Given the description of an element on the screen output the (x, y) to click on. 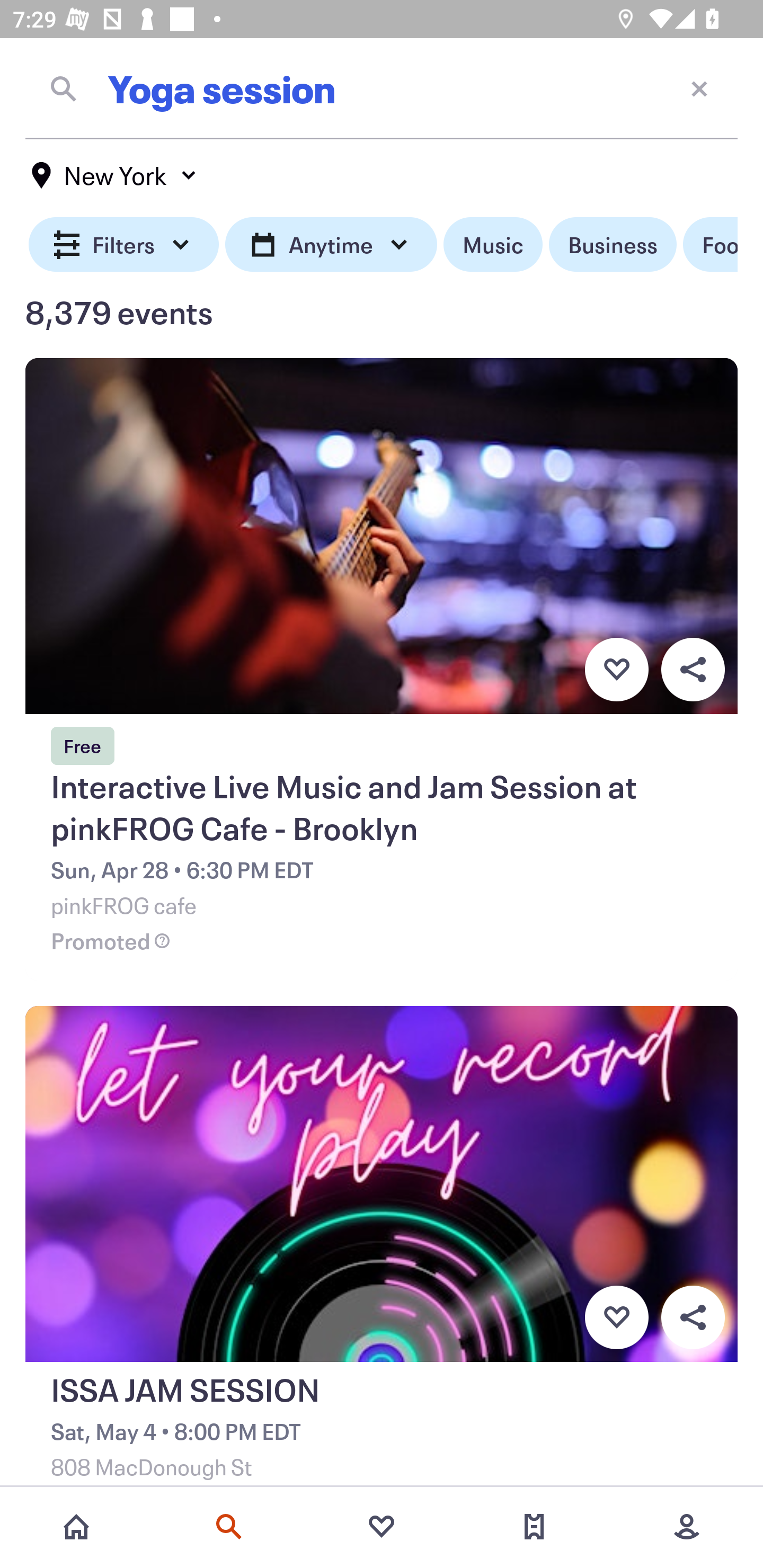
Yoga session Close current screen (381, 88)
Close current screen (699, 88)
New York (114, 175)
Filters (123, 244)
Anytime (331, 244)
Music (492, 244)
Business (612, 244)
Favorite button (616, 669)
Overflow menu button (692, 669)
Favorite button (616, 1317)
Overflow menu button (692, 1317)
Home (76, 1526)
Search events (228, 1526)
Favorites (381, 1526)
Tickets (533, 1526)
More (686, 1526)
